Given the description of an element on the screen output the (x, y) to click on. 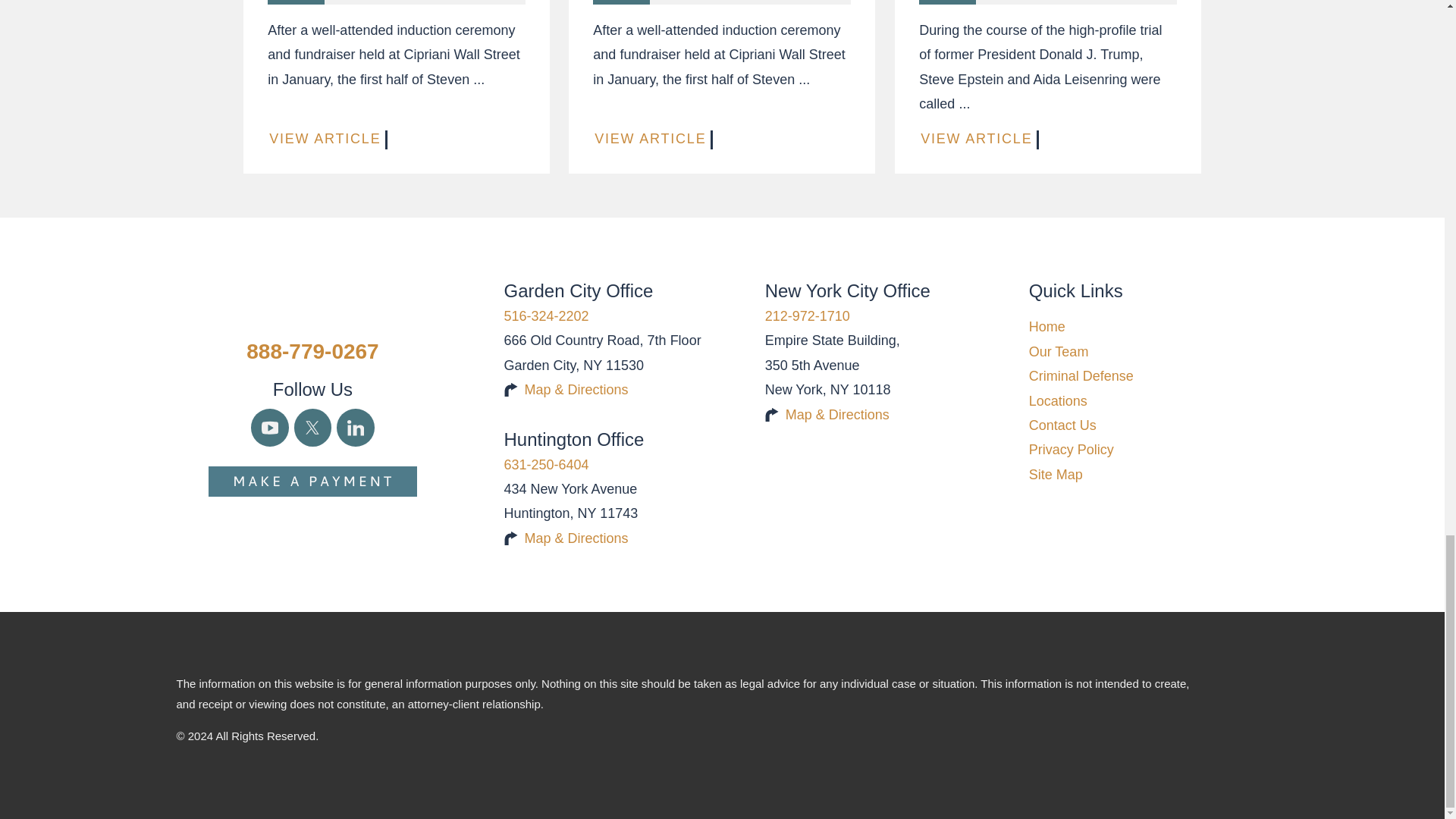
YouTube (269, 427)
Twitter (312, 427)
